Given the description of an element on the screen output the (x, y) to click on. 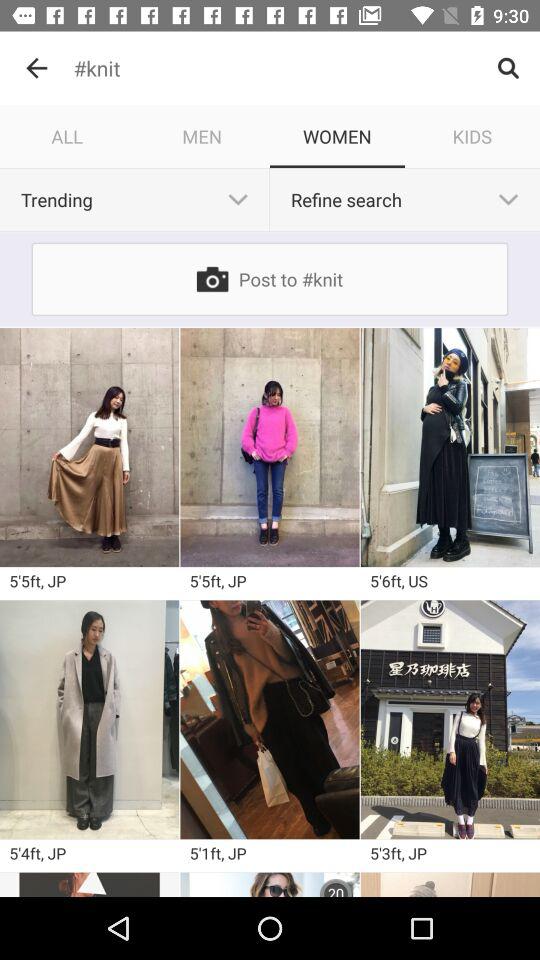
loads a person 's profile (89, 884)
